Given the description of an element on the screen output the (x, y) to click on. 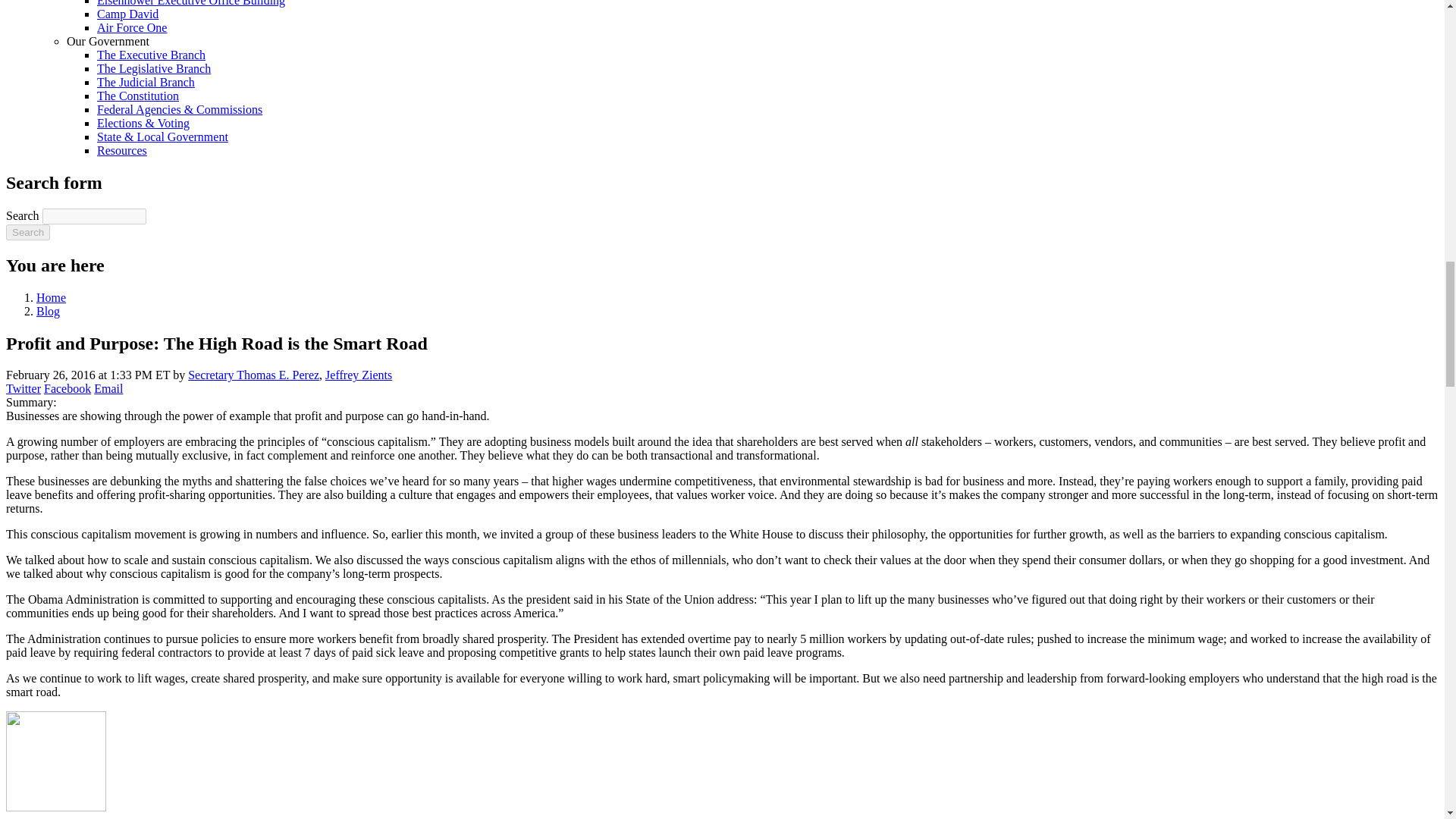
Twitter (22, 388)
Facebook (66, 388)
Search (27, 232)
Enter the terms you wish to search for. (94, 216)
Email (108, 388)
